Given the description of an element on the screen output the (x, y) to click on. 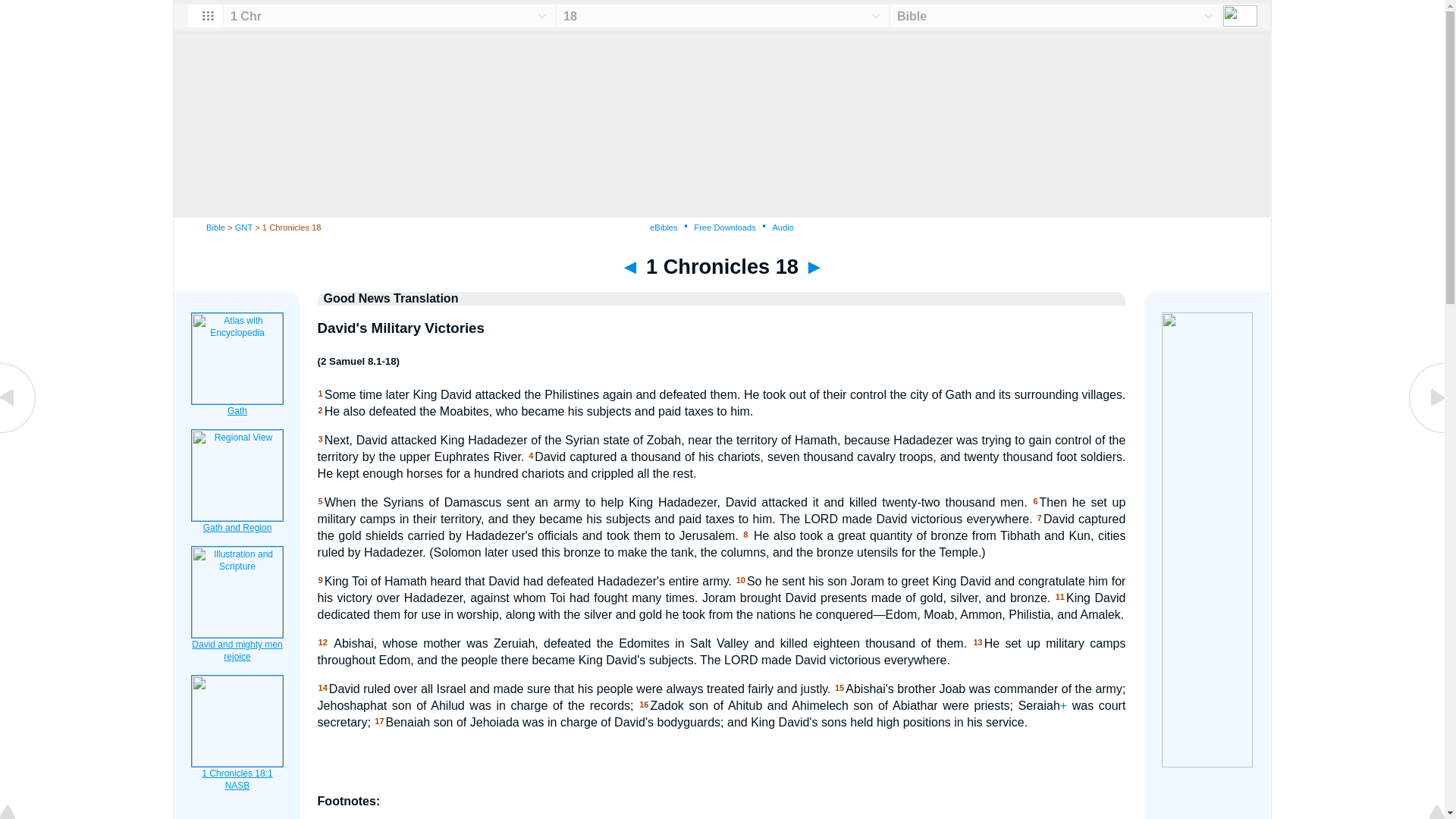
Bible (215, 226)
1 Chronicles 17 (18, 431)
Top of Page (18, 813)
GNT (242, 226)
